Given the description of an element on the screen output the (x, y) to click on. 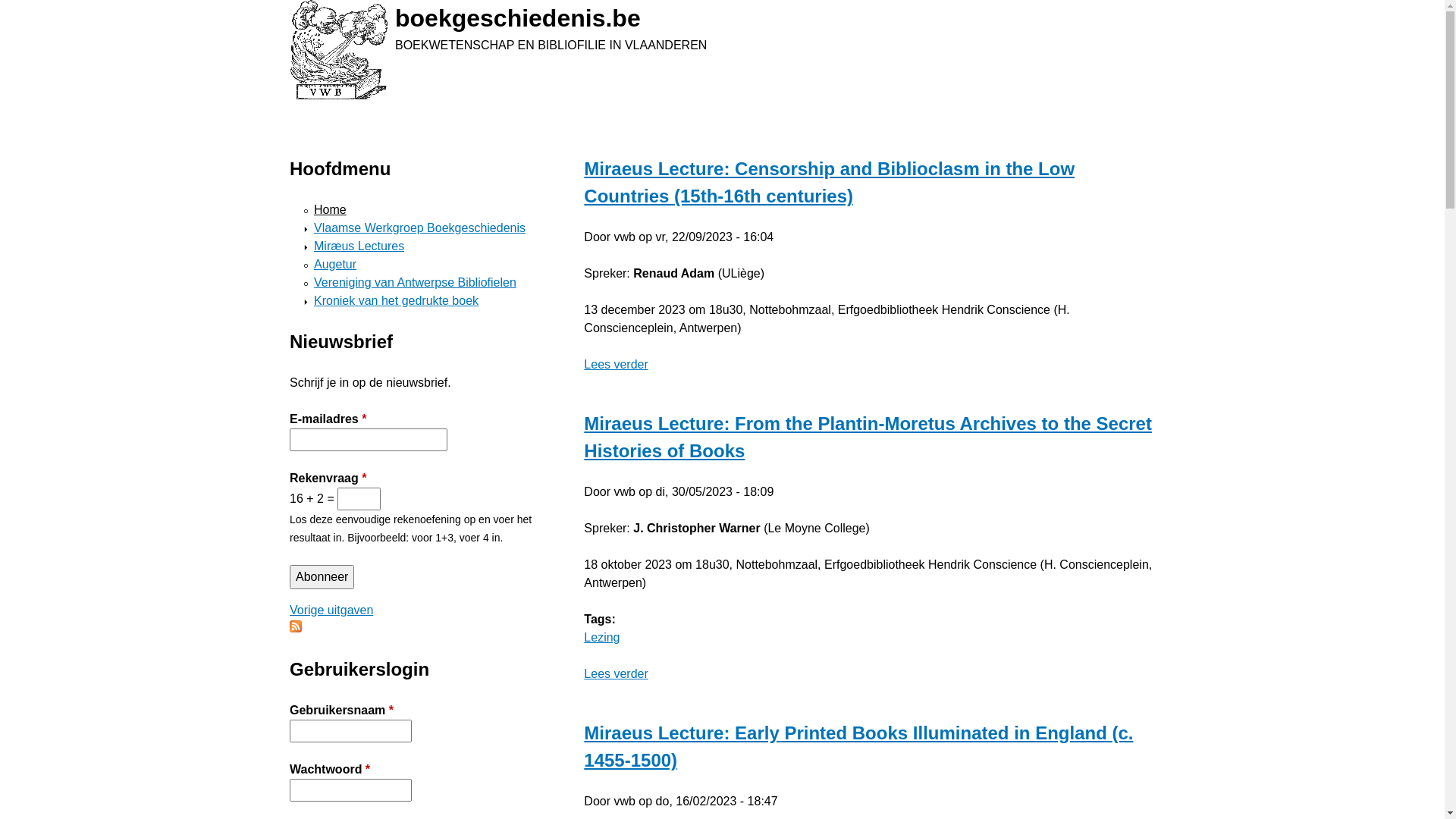
Abonneer Element type: text (321, 576)
Back to top Element type: text (583, 137)
Vlaamse Werkgroep Boekgeschiedenis Element type: text (419, 227)
Home Element type: text (329, 209)
Vereniging van Antwerpse Bibliofielen Element type: text (414, 282)
Back to top Element type: text (289, 100)
Vorige uitgaven Element type: text (331, 609)
Augetur Element type: text (334, 263)
Home Element type: hover (338, 50)
Abonneren op VWB feed Element type: hover (295, 627)
boekgeschiedenis.be Element type: text (517, 17)
Lezing Element type: text (601, 636)
Jump to navigation Element type: text (0, 1)
Kroniek van het gedrukte boek Element type: text (395, 300)
